Given the description of an element on the screen output the (x, y) to click on. 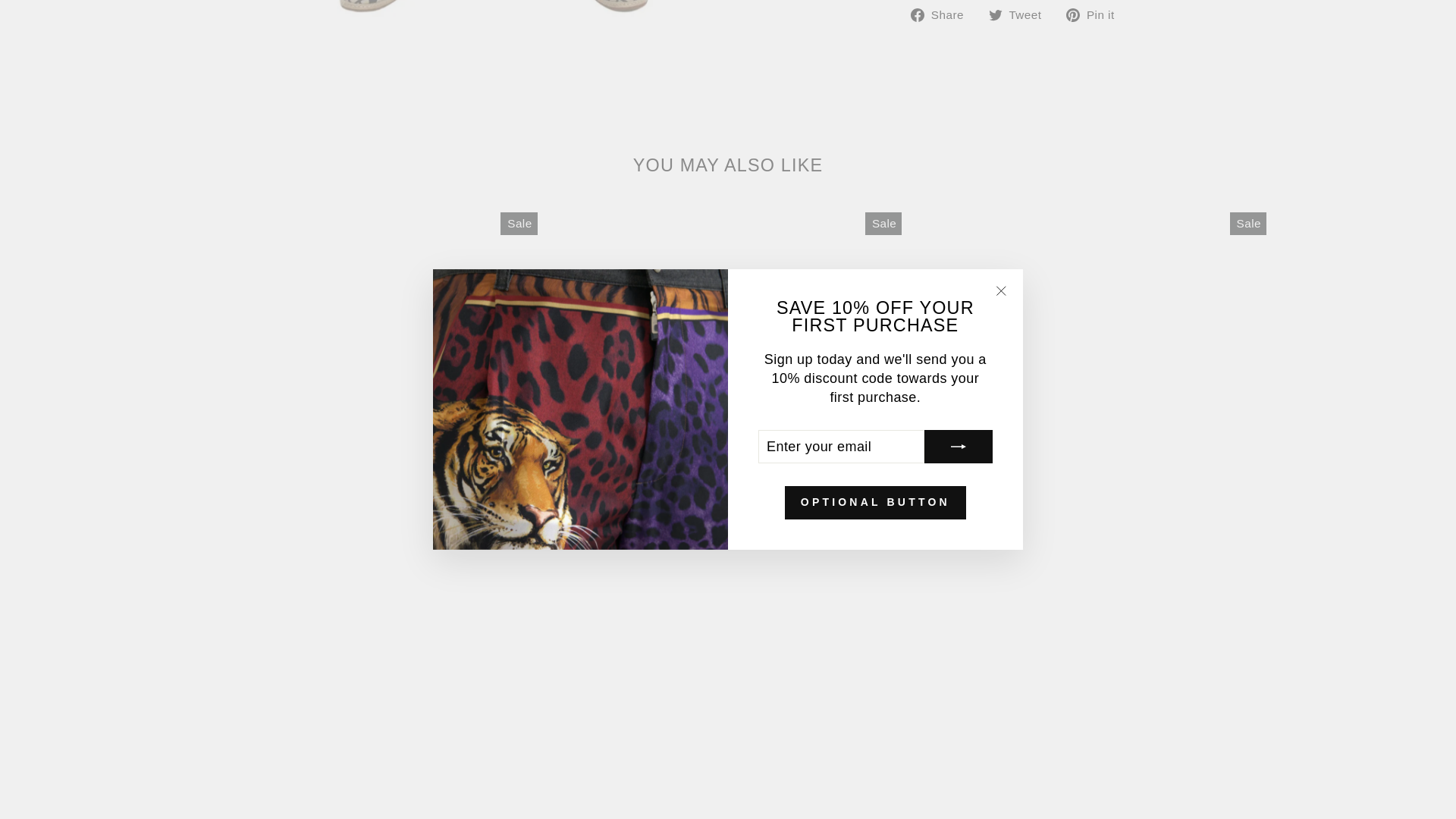
Tweet on Twitter (1020, 14)
twitter (995, 15)
